Given the description of an element on the screen output the (x, y) to click on. 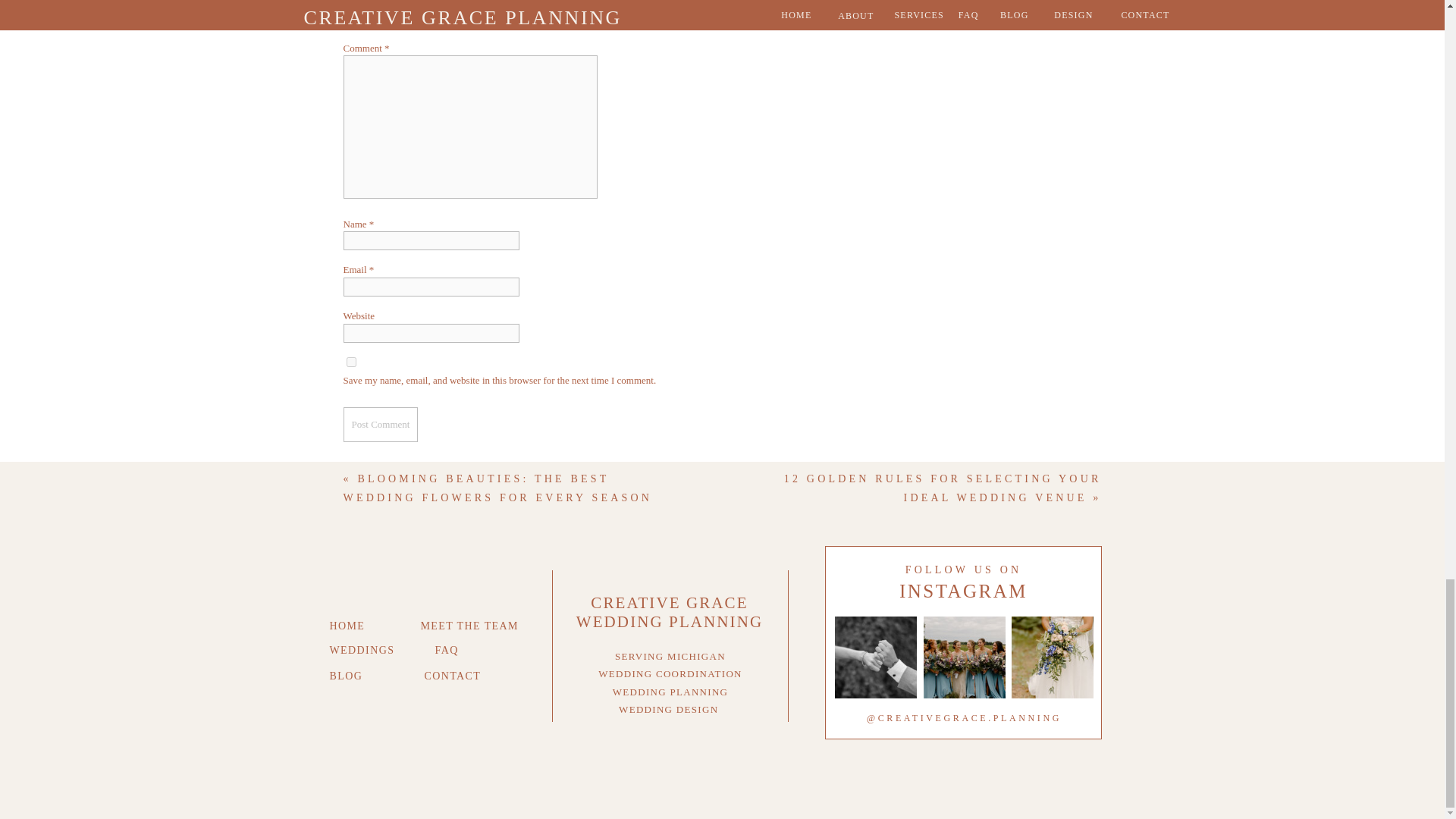
FAQ (475, 647)
12 GOLDEN RULES FOR SELECTING YOUR IDEAL WEDDING VENUE (943, 488)
BLOG (369, 673)
WEDDINGS (369, 647)
Post Comment (379, 424)
HOME (369, 623)
yes (350, 361)
Post Comment (379, 424)
CONTACT (465, 673)
BLOOMING BEAUTIES: THE BEST WEDDING FLOWERS FOR EVERY SEASON (497, 488)
